Given the description of an element on the screen output the (x, y) to click on. 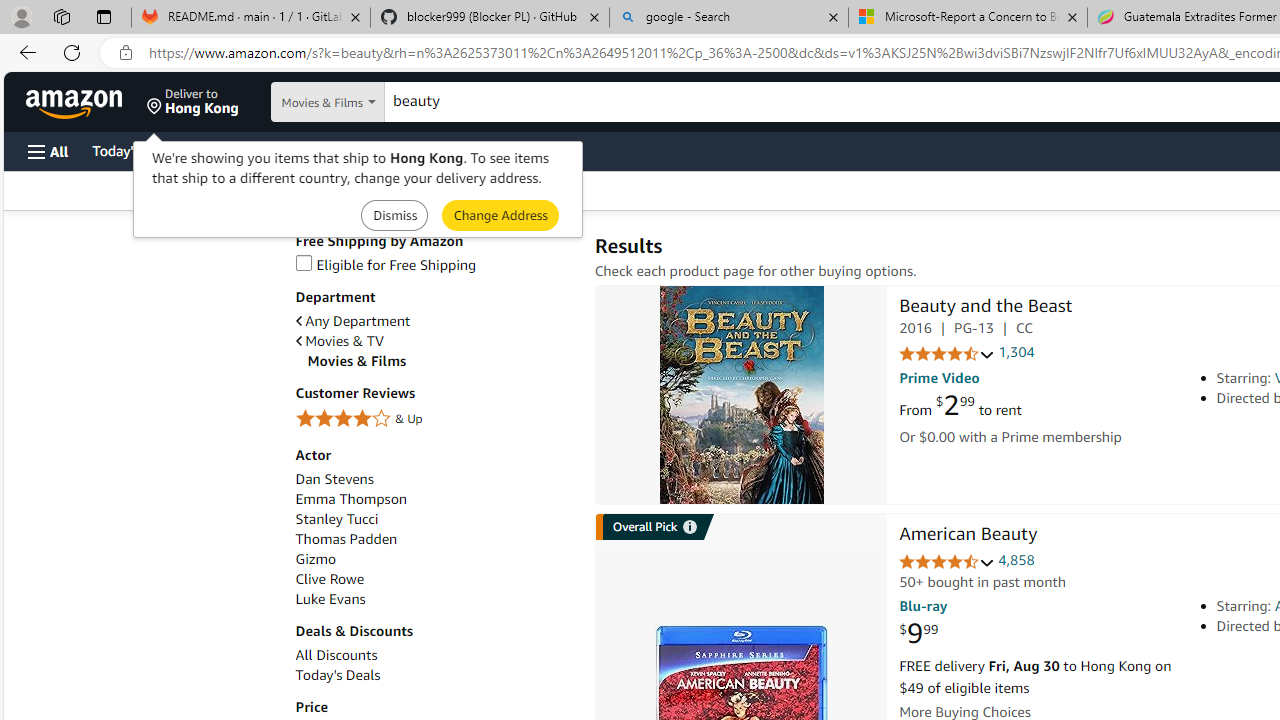
Eligible for Free Shipping (434, 265)
Beauty and the Beast (741, 394)
American Beauty (968, 535)
All Discounts (335, 655)
Search in (371, 102)
Submit (499, 214)
From $2.99 to rent (959, 406)
Today's Deals (434, 675)
4,858 (1016, 560)
Movies & TV (339, 341)
Deliver to Hong Kong (193, 101)
